Given the description of an element on the screen output the (x, y) to click on. 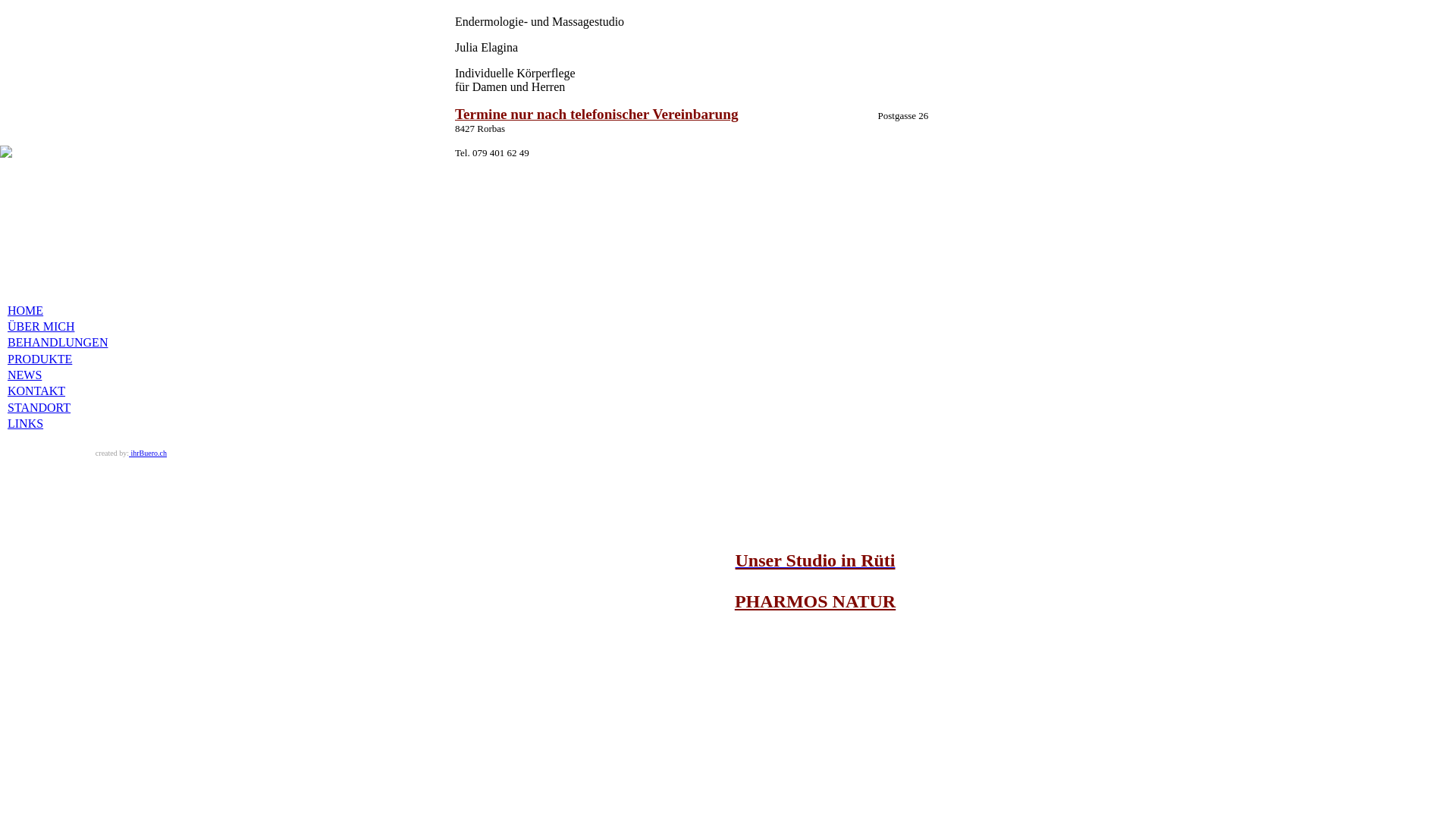
HOME Element type: text (25, 310)
PHARMOS NATUR Element type: text (814, 601)
STANDORT Element type: text (38, 407)
PRODUKTE Element type: text (39, 358)
KONTAKT Element type: text (36, 390)
NEWS Element type: text (24, 374)
ihrBuero.ch Element type: text (147, 452)
BEHANDLUNGEN Element type: text (57, 341)
LINKS Element type: text (25, 423)
